Given the description of an element on the screen output the (x, y) to click on. 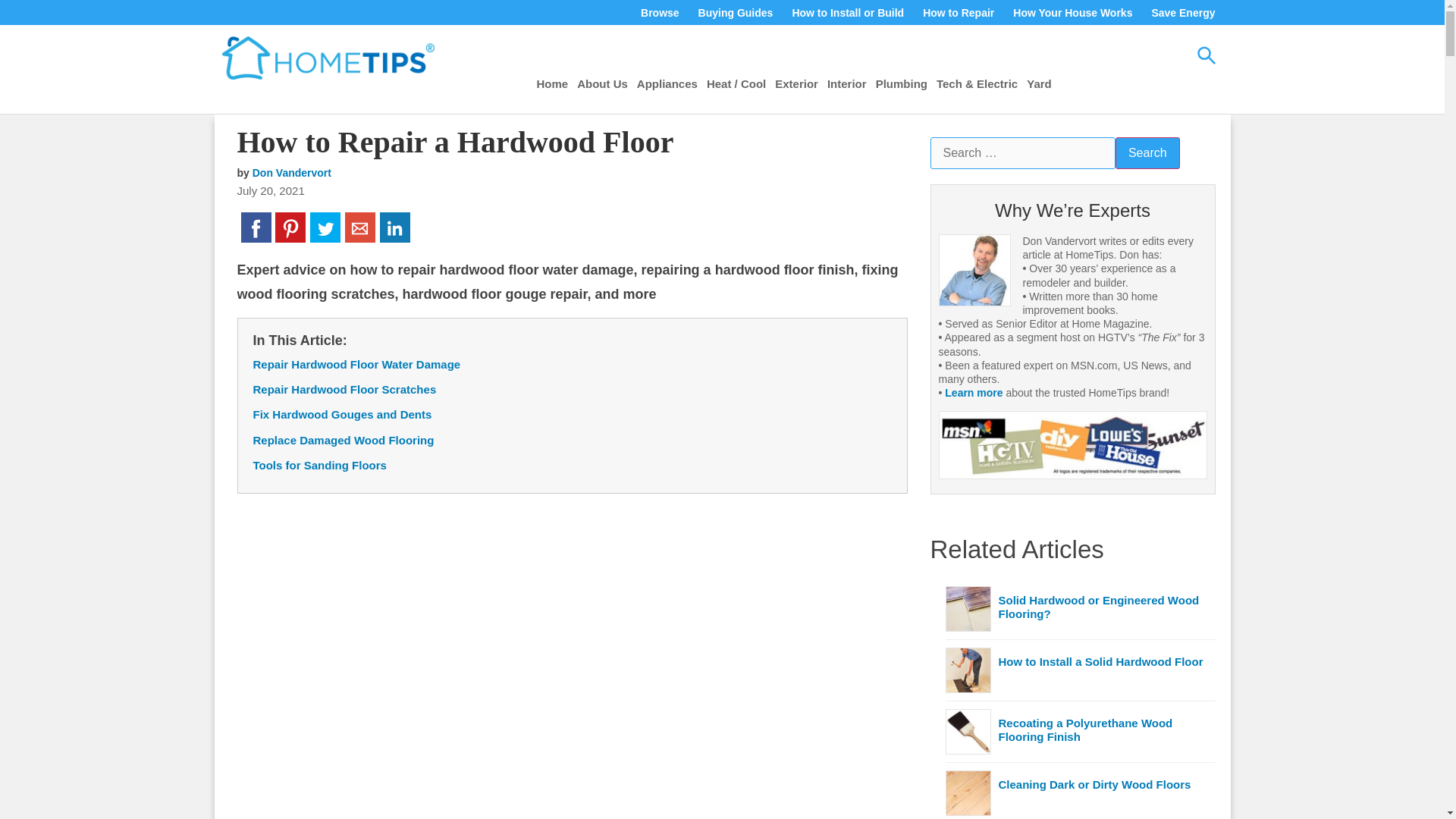
How Your House Works (1072, 12)
Appliances (667, 83)
Search Icon A magnifying glass icon. (1205, 54)
Buying Guides (735, 12)
About Us (601, 83)
How to Repair (957, 12)
Home (552, 83)
Home (553, 83)
Save Energy (1182, 12)
About Us (601, 83)
Appliances (666, 83)
Search (1147, 152)
Browse (659, 12)
How to Install or Build (847, 12)
Search (1147, 152)
